Given the description of an element on the screen output the (x, y) to click on. 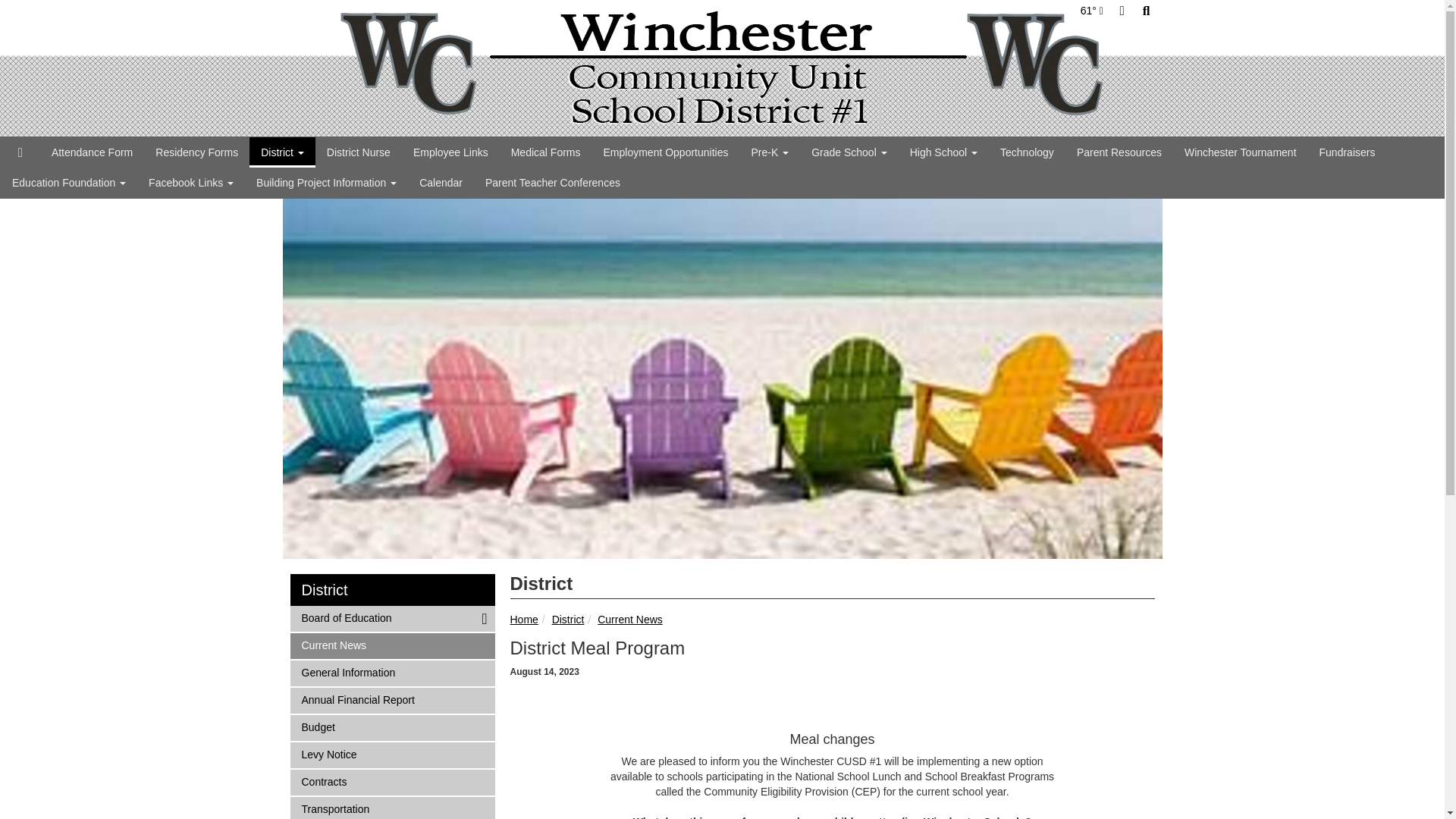
Employment Opportunities (665, 152)
Employee Links (450, 152)
Sign In Link (1122, 10)
Medical Forms (545, 152)
Home (721, 68)
District Nurse (358, 152)
Sign In (1122, 10)
Search (1146, 10)
Winchester Schools Logo (721, 68)
District (281, 152)
Attendance Form (92, 152)
Pre-K (769, 152)
Residency Forms (196, 152)
Home Link (20, 152)
